Given the description of an element on the screen output the (x, y) to click on. 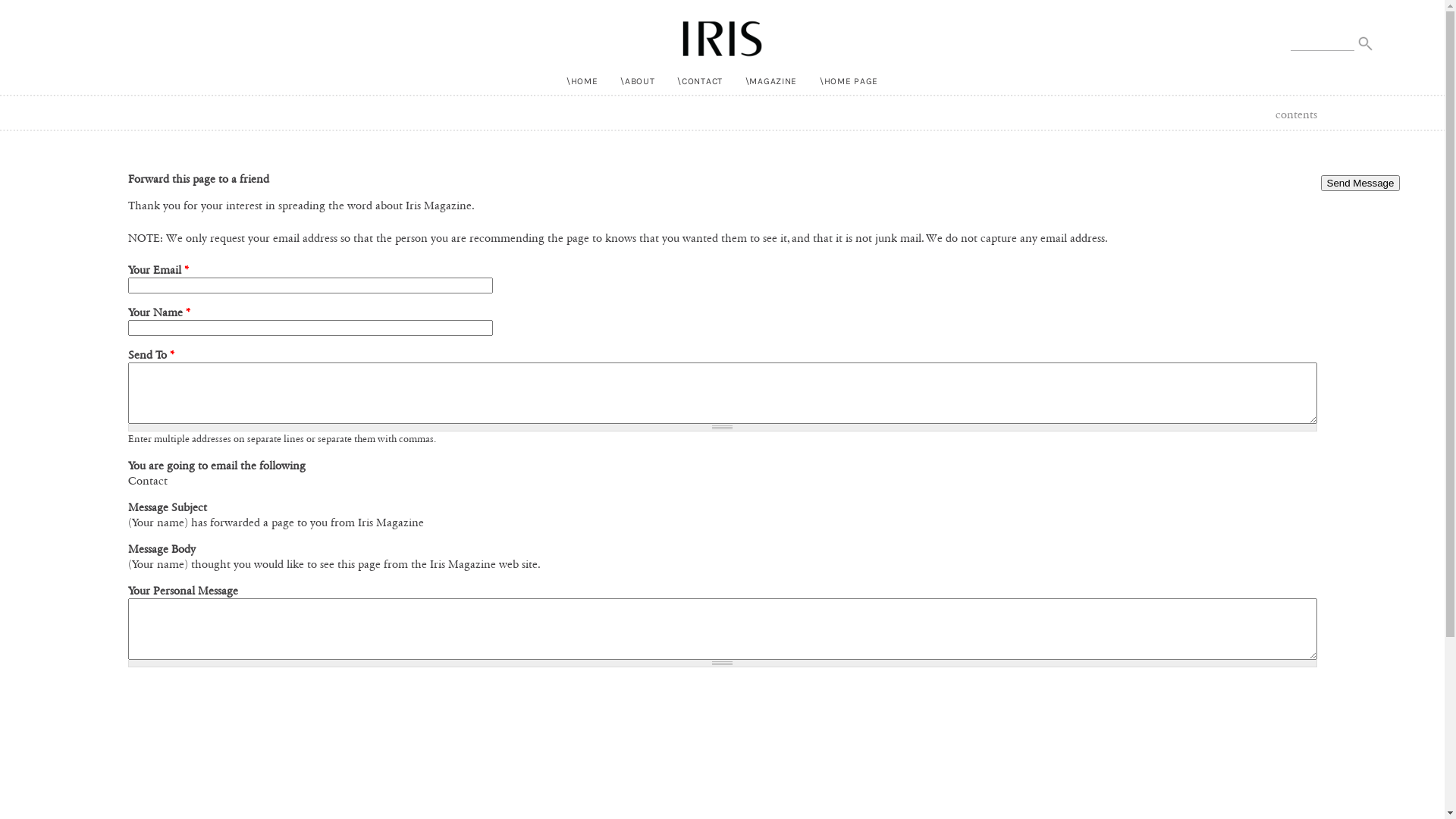
Contact Element type: text (146, 480)
CONTACT Element type: text (699, 80)
contents Element type: text (1296, 114)
ABOUT Element type: text (637, 80)
Search Element type: text (21, 7)
HOME Element type: text (582, 80)
Send Message Element type: text (1360, 183)
Enter the terms you wish to search for. Element type: hover (1322, 40)
MAGAZINE Element type: text (771, 80)
HOME PAGE Element type: text (848, 80)
